Given the description of an element on the screen output the (x, y) to click on. 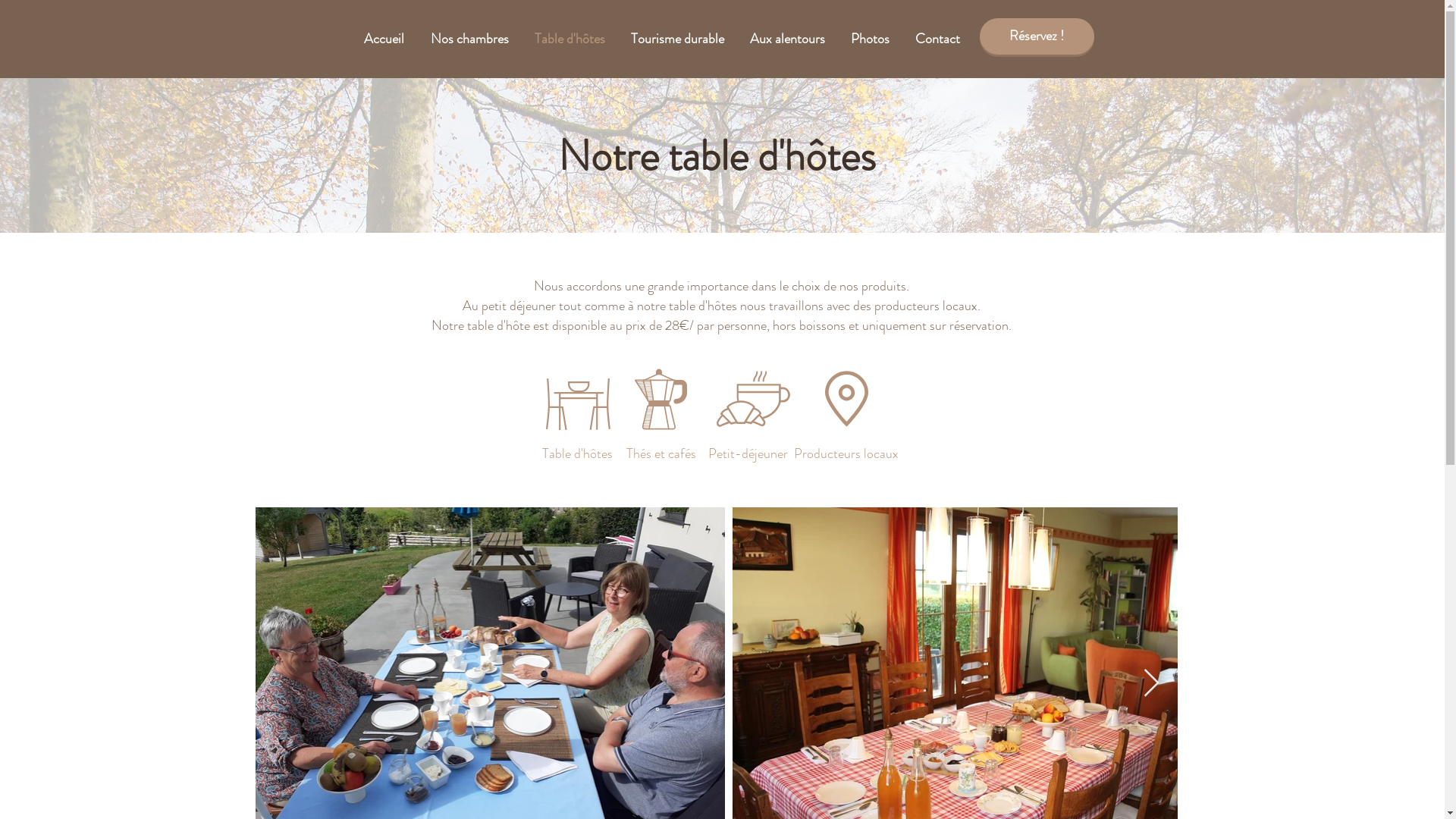
Aux alentours Element type: text (787, 38)
Tourisme durable Element type: text (676, 38)
Photos Element type: text (869, 38)
Nos chambres Element type: text (468, 38)
Contact Element type: text (937, 38)
Accueil Element type: text (383, 38)
